Given the description of an element on the screen output the (x, y) to click on. 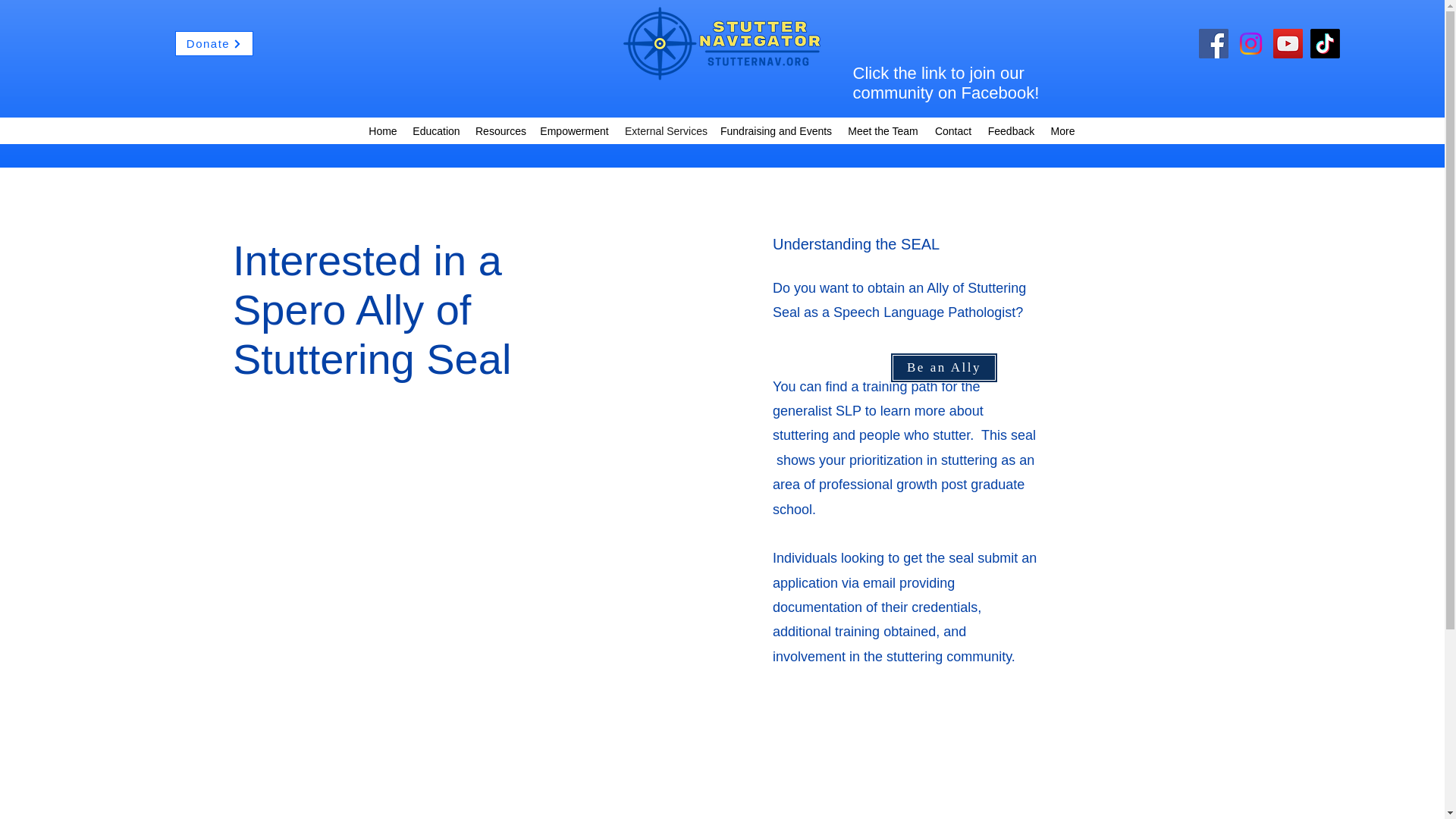
Meet the Team (883, 130)
Home (382, 130)
Empowerment (574, 130)
Contact (952, 130)
Feedback (1010, 130)
Fundraising and Events (776, 130)
Education (435, 130)
Be an Ally (943, 367)
Resources (499, 130)
External Services (665, 130)
